Given the description of an element on the screen output the (x, y) to click on. 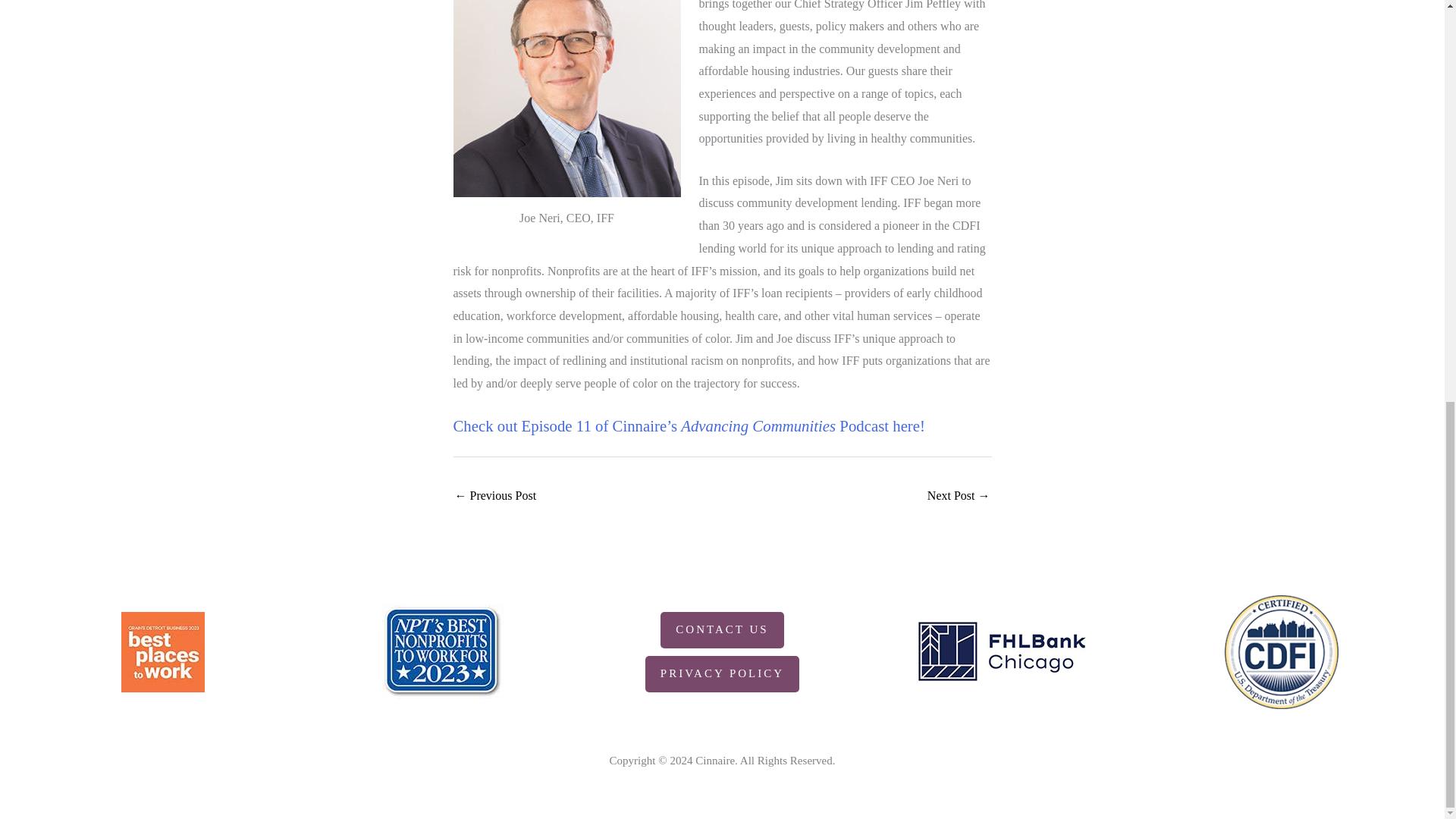
Cinnaire Leans Into Strategic Plan with Key Appointments (495, 497)
